Given the description of an element on the screen output the (x, y) to click on. 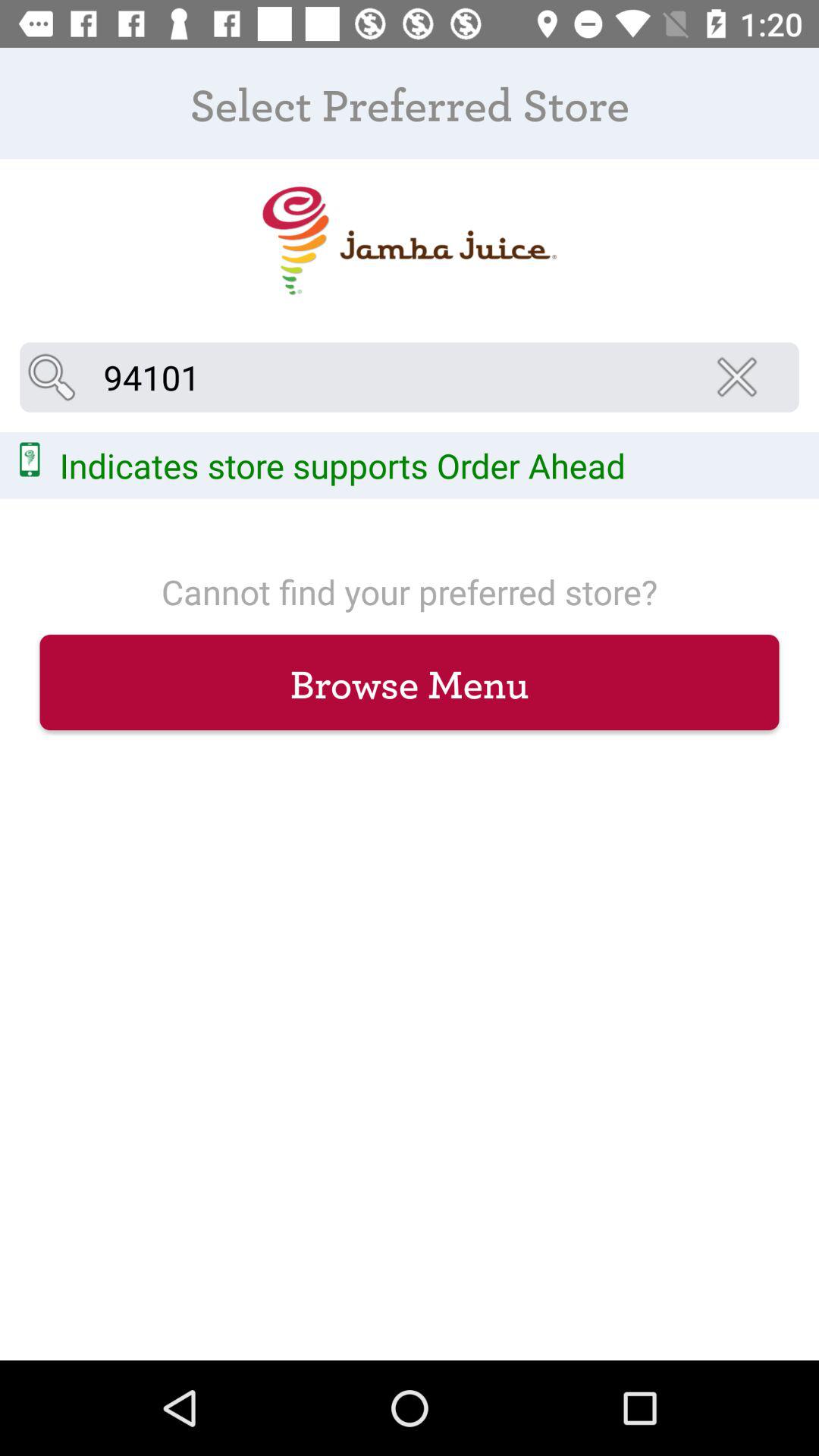
scroll to browse menu icon (409, 682)
